Given the description of an element on the screen output the (x, y) to click on. 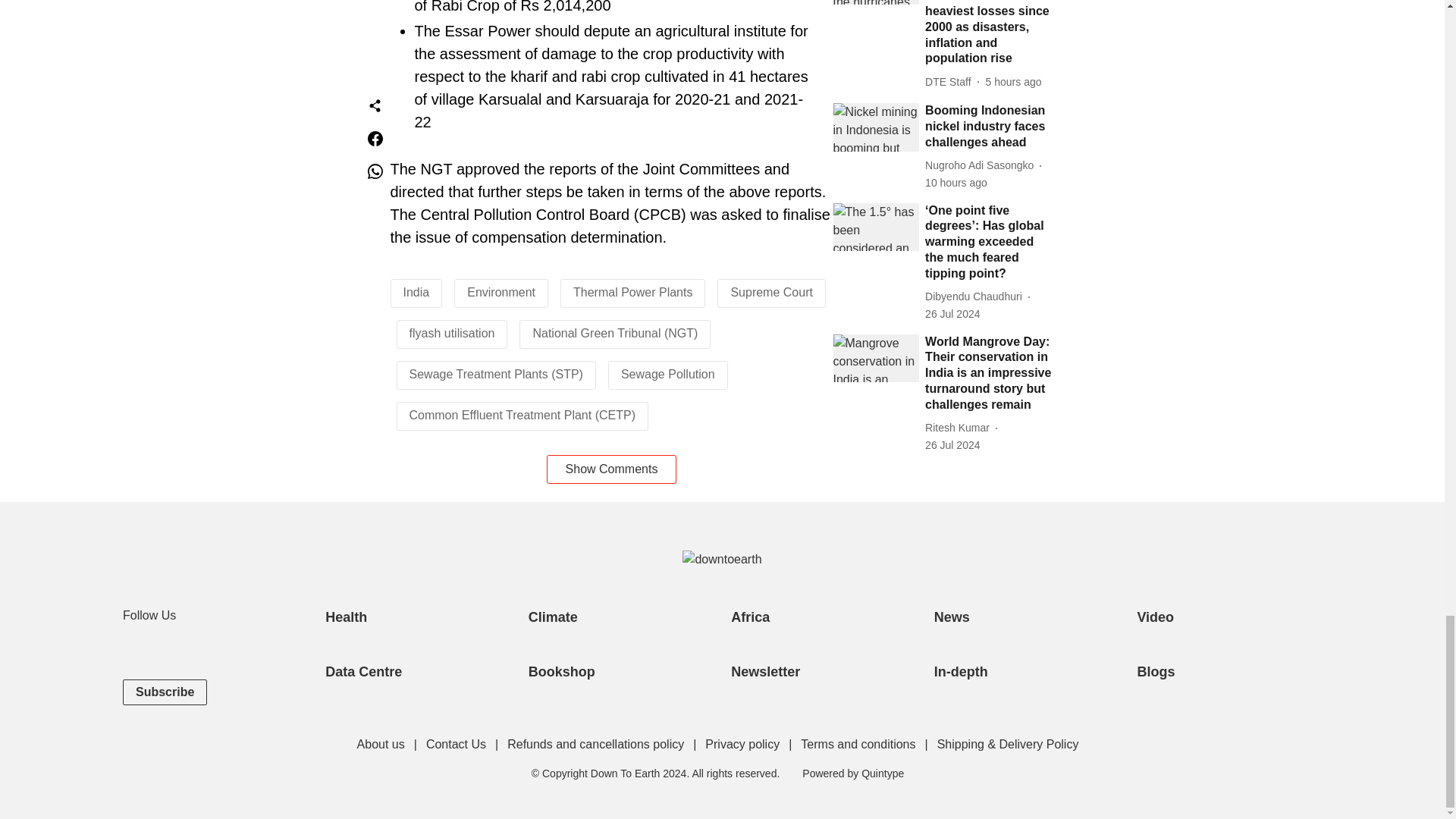
Thermal Power Plants (633, 291)
Environment (501, 291)
Supreme Court (771, 291)
India (416, 291)
